Given the description of an element on the screen output the (x, y) to click on. 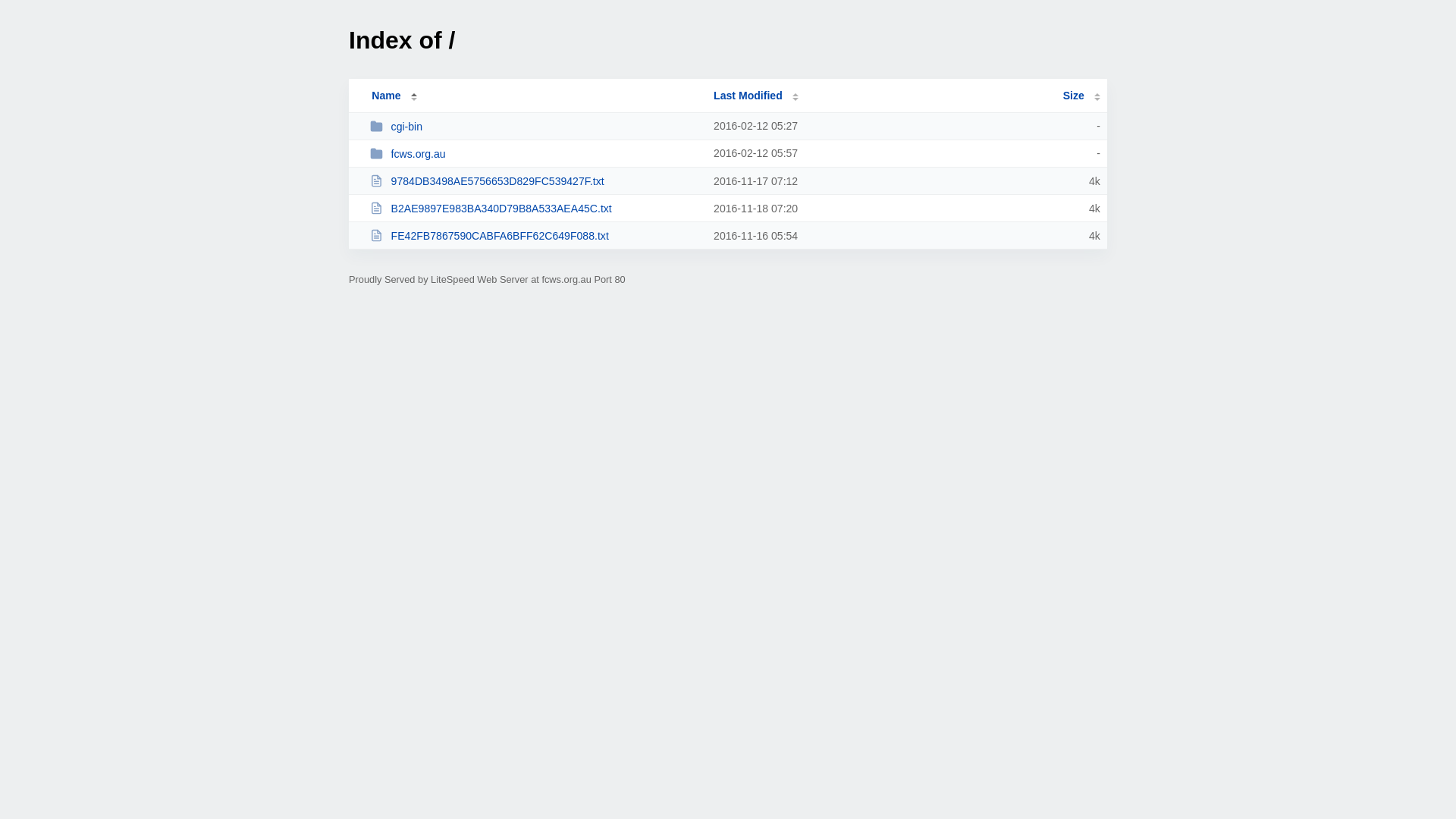
cgi-bin Element type: text (534, 125)
fcws.org.au Element type: text (534, 153)
FE42FB7867590CABFA6BFF62C649F088.txt Element type: text (534, 235)
Size Element type: text (1081, 95)
Name Element type: text (385, 95)
B2AE9897E983BA340D79B8A533AEA45C.txt Element type: text (534, 207)
9784DB3498AE5756653D829FC539427F.txt Element type: text (534, 180)
Last Modified Element type: text (755, 95)
